Given the description of an element on the screen output the (x, y) to click on. 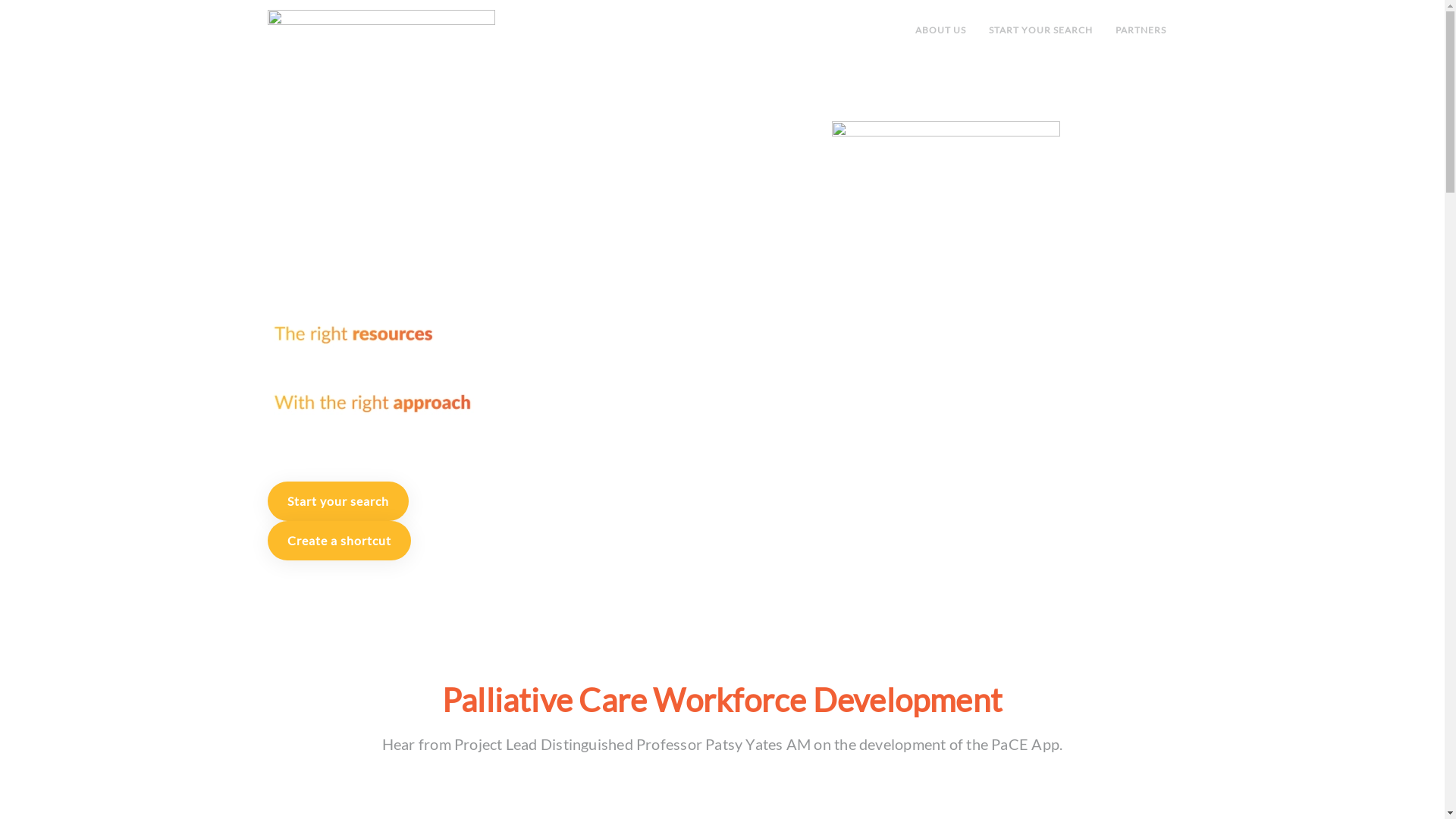
ABOUT US Element type: text (940, 30)
Create a shortcut Element type: text (338, 540)
PARTNERS Element type: text (1140, 30)
START YOUR SEARCH Element type: text (1039, 30)
Start your search Element type: text (336, 500)
